Given the description of an element on the screen output the (x, y) to click on. 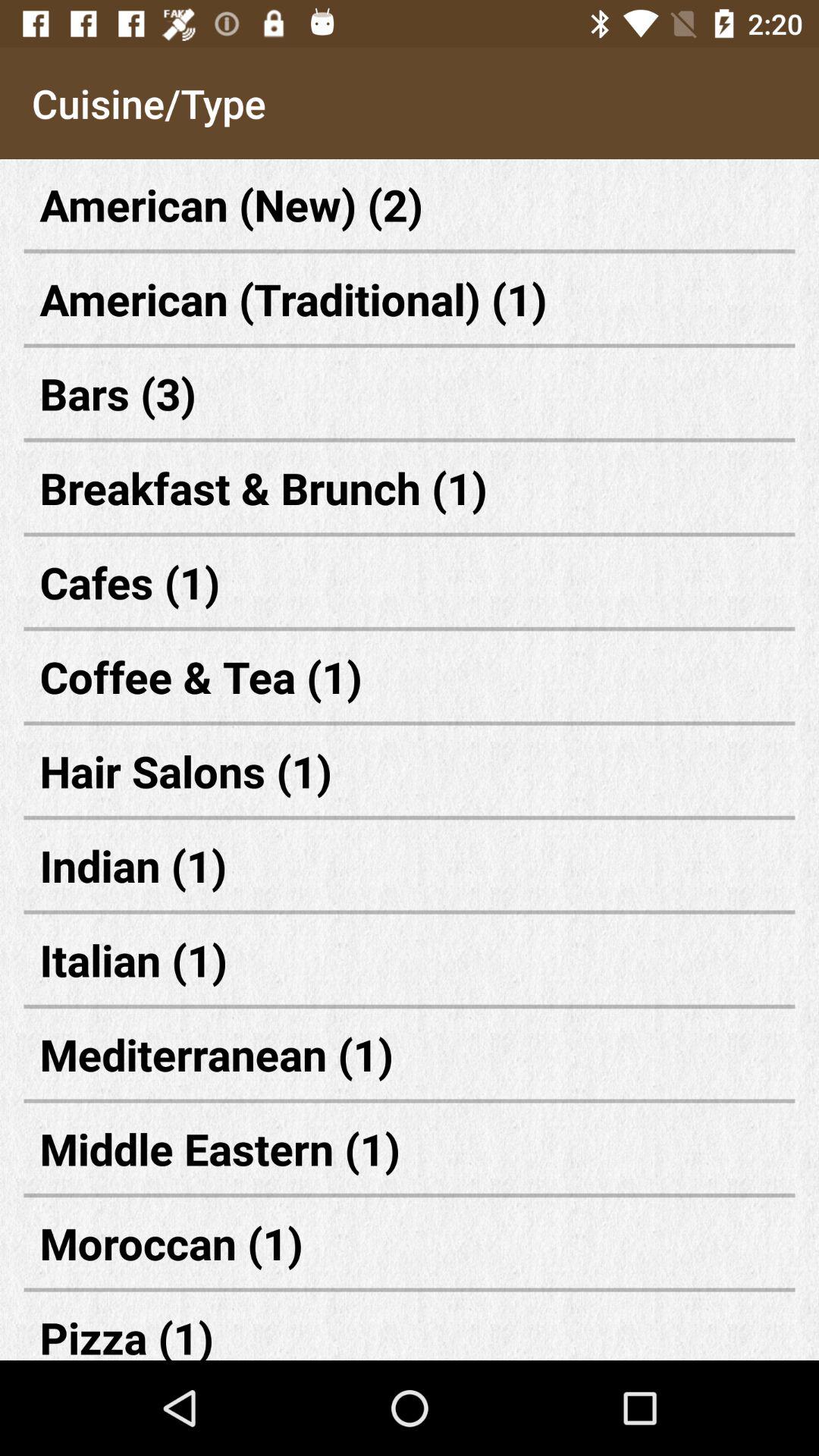
tap the icon below breakfast & brunch (1) item (409, 581)
